Given the description of an element on the screen output the (x, y) to click on. 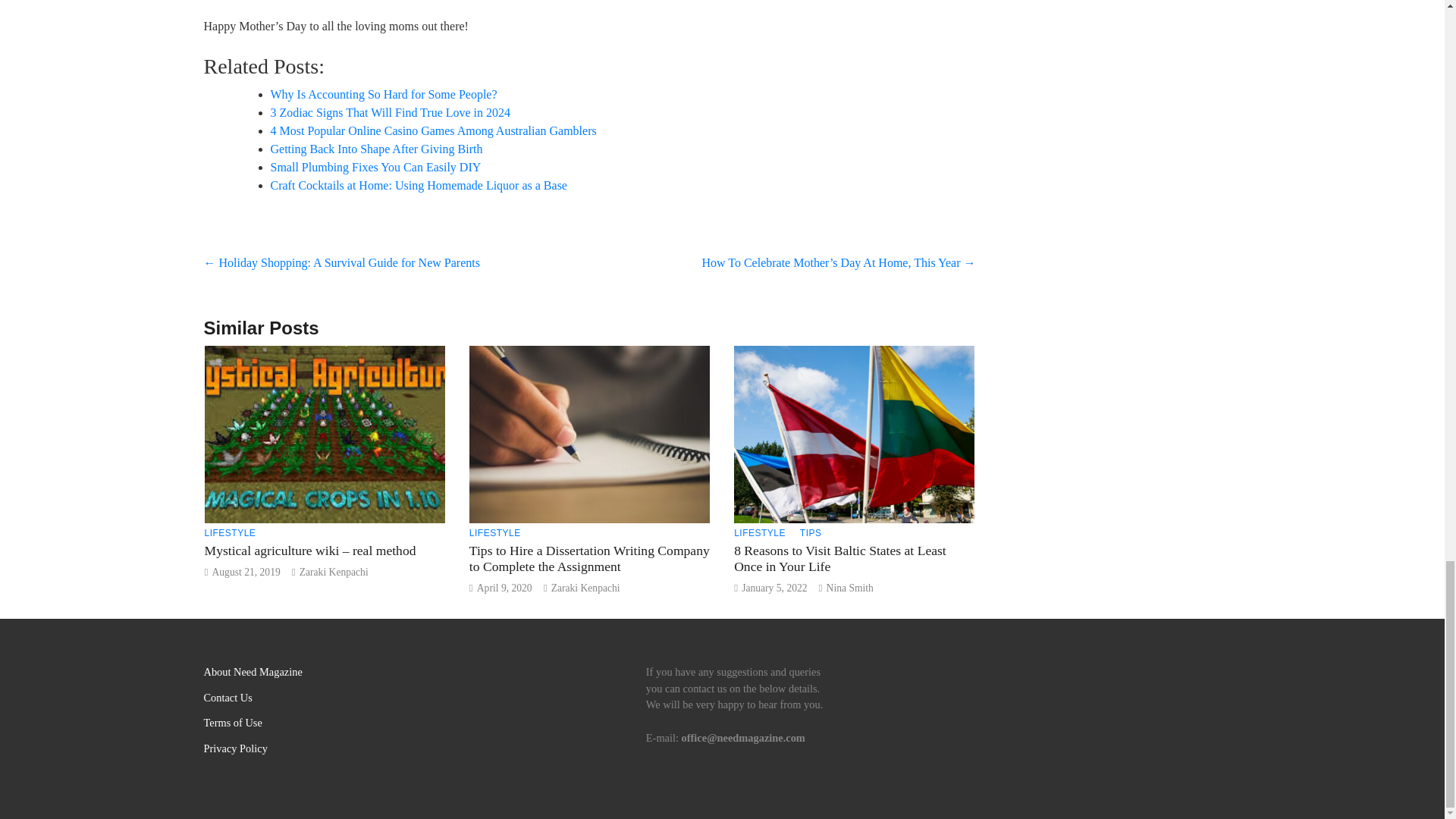
4 Most Popular Online Casino Games Among Australian Gamblers (432, 130)
3 Zodiac Signs That Will Find True Love in 2024 (390, 112)
Why Is Accounting So Hard for Some People? (382, 93)
Getting Back Into Shape After Giving Birth (375, 148)
